Given the description of an element on the screen output the (x, y) to click on. 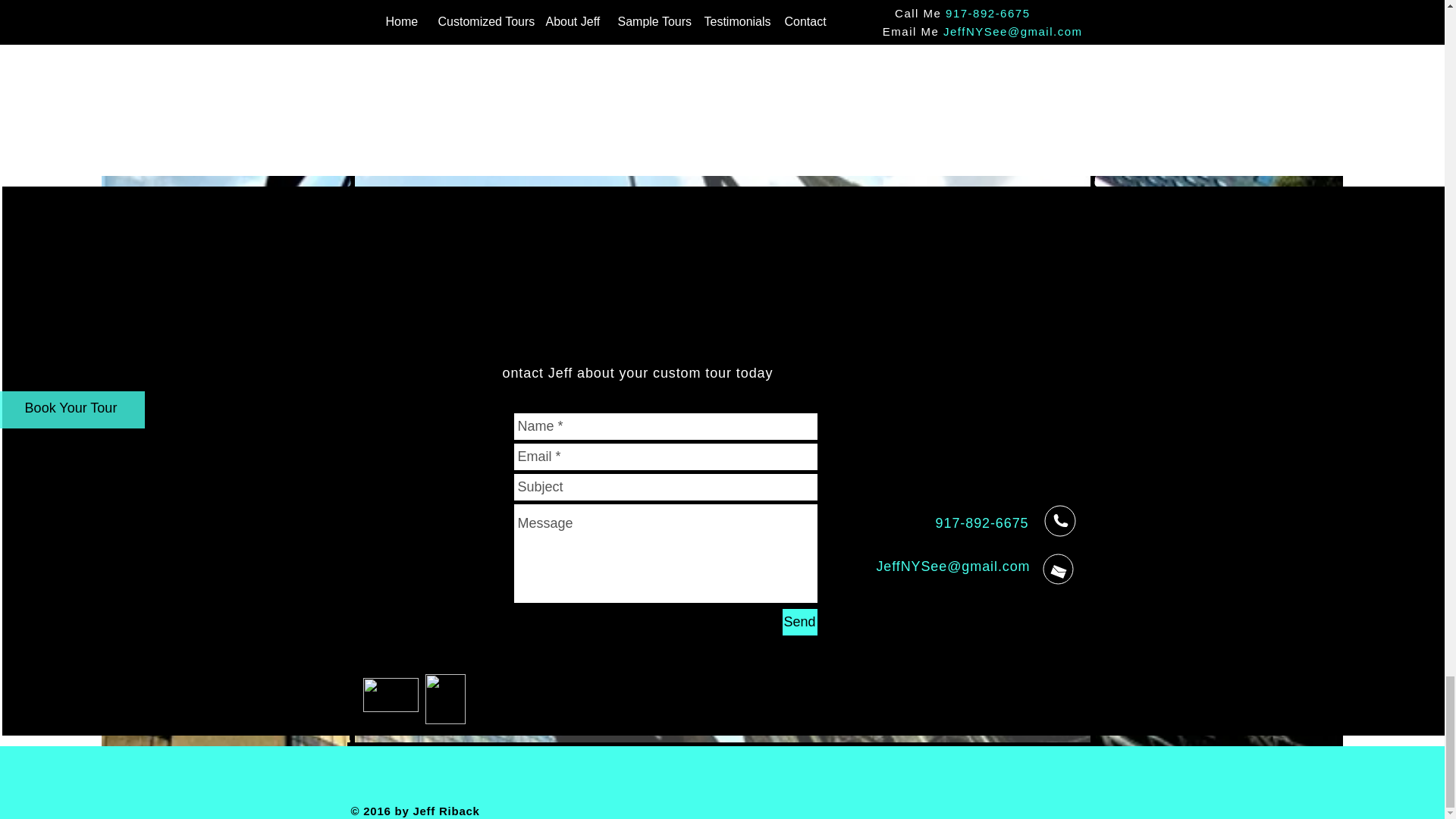
Send (799, 622)
